Given the description of an element on the screen output the (x, y) to click on. 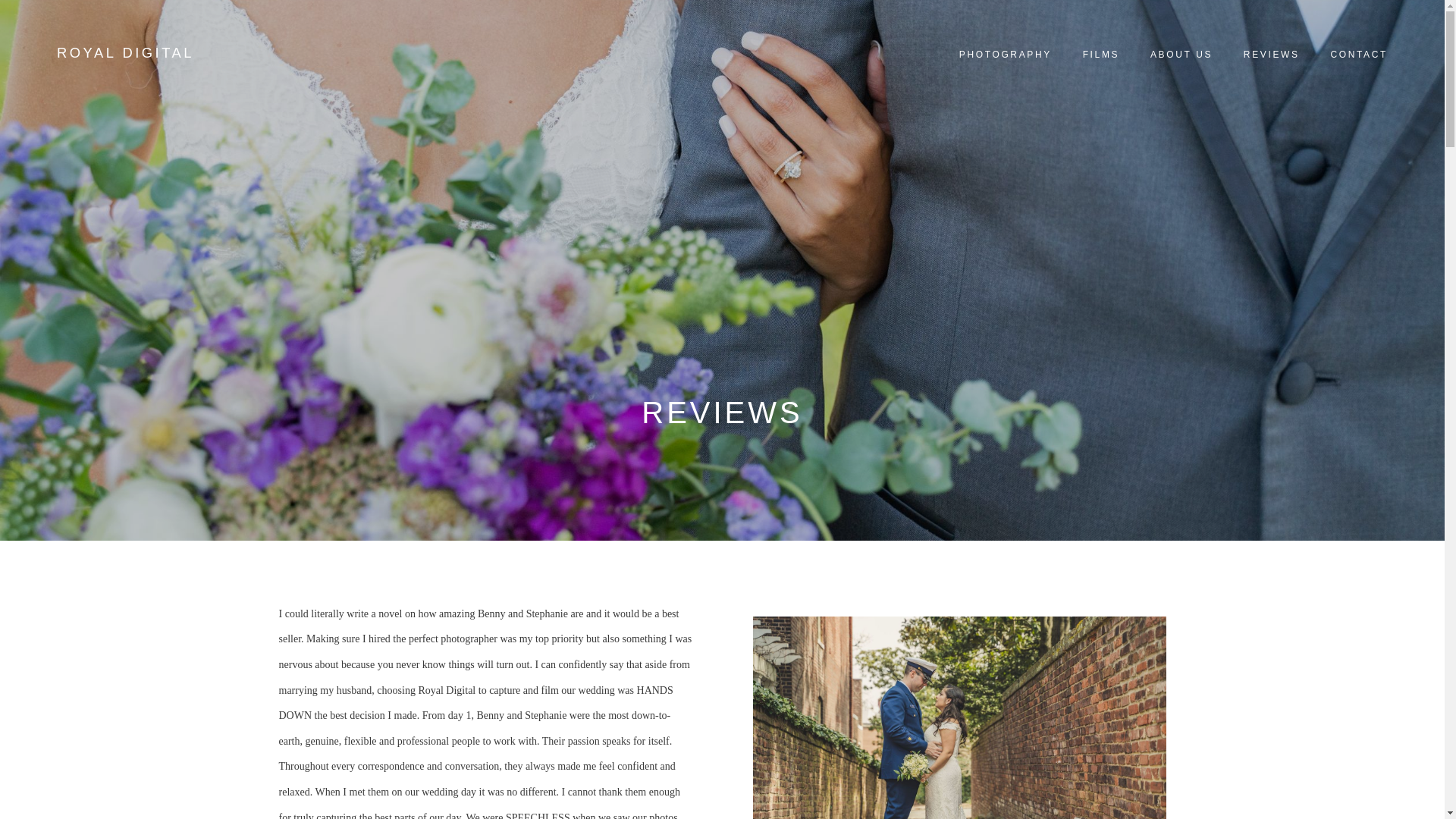
CONTACT (1359, 54)
PHOTOGRAPHY (1004, 54)
ABOUT US (1181, 54)
ROYAL DIGITAL (124, 53)
REVIEWS (1271, 54)
FILMS (1100, 54)
